Given the description of an element on the screen output the (x, y) to click on. 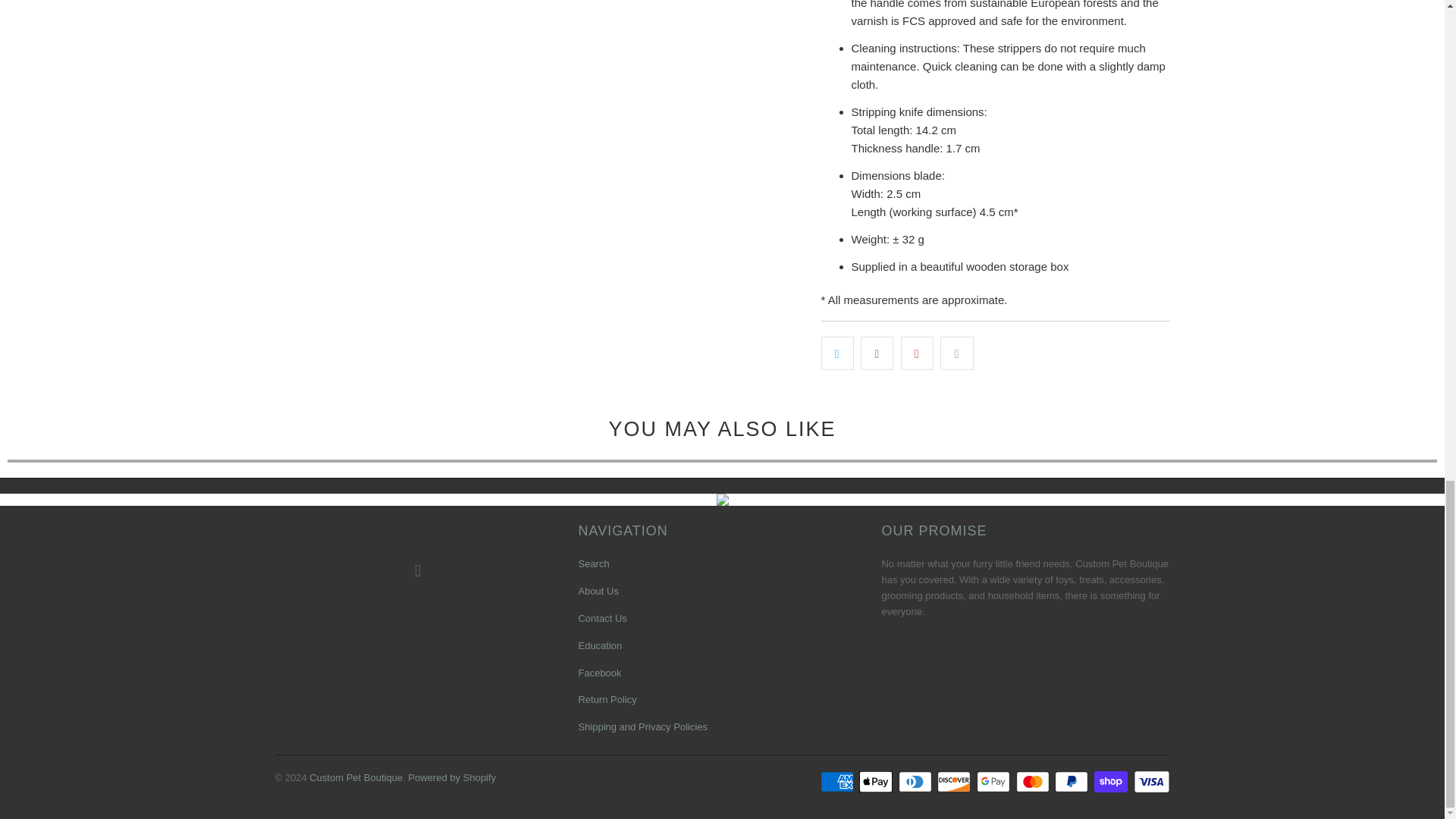
Share this on Pinterest (917, 353)
Diners Club (916, 781)
Google Pay (994, 781)
PayPal (1072, 781)
Discover (955, 781)
Share this on Facebook (876, 353)
Visa (1150, 781)
Mastercard (1034, 781)
American Express (839, 781)
Email this to a friend (956, 353)
